Given the description of an element on the screen output the (x, y) to click on. 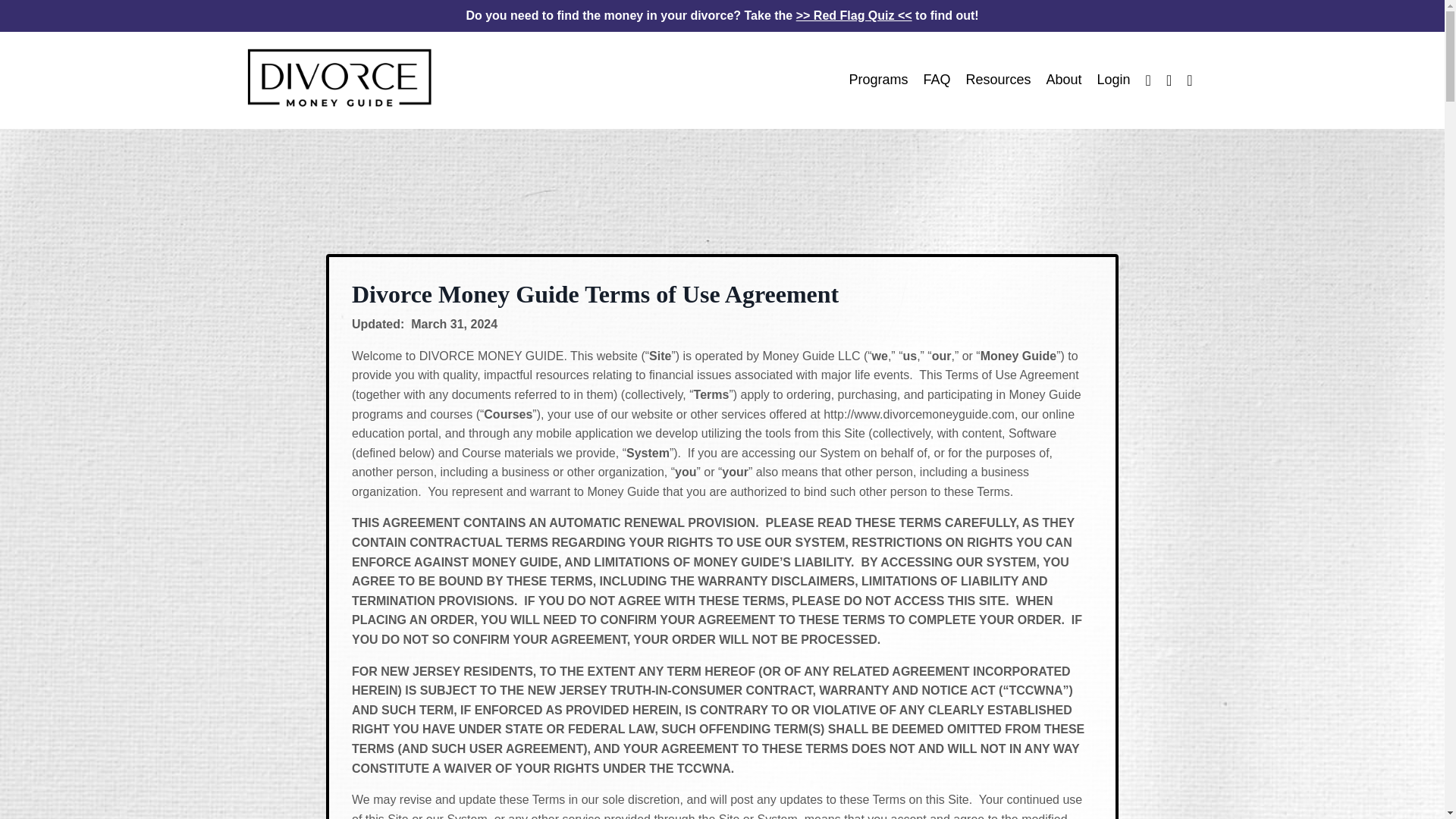
About (1063, 79)
FAQ (936, 79)
Programs (877, 79)
Login (1114, 79)
Resources (997, 79)
